Given the description of an element on the screen output the (x, y) to click on. 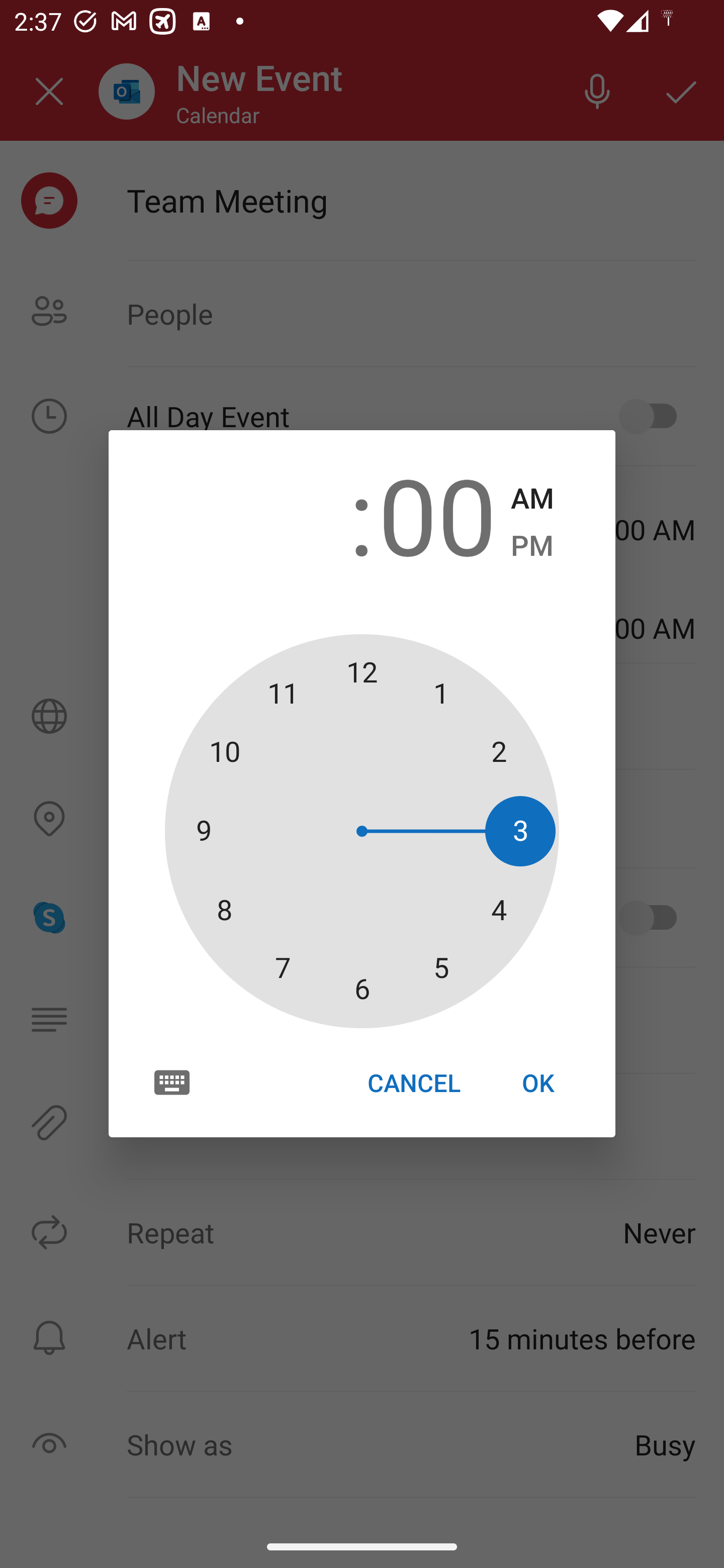
3 (285, 513)
00 (436, 513)
AM (532, 498)
PM (532, 546)
CANCEL (413, 1082)
OK (537, 1082)
Switch to text input mode for the time input. (171, 1081)
